Given the description of an element on the screen output the (x, y) to click on. 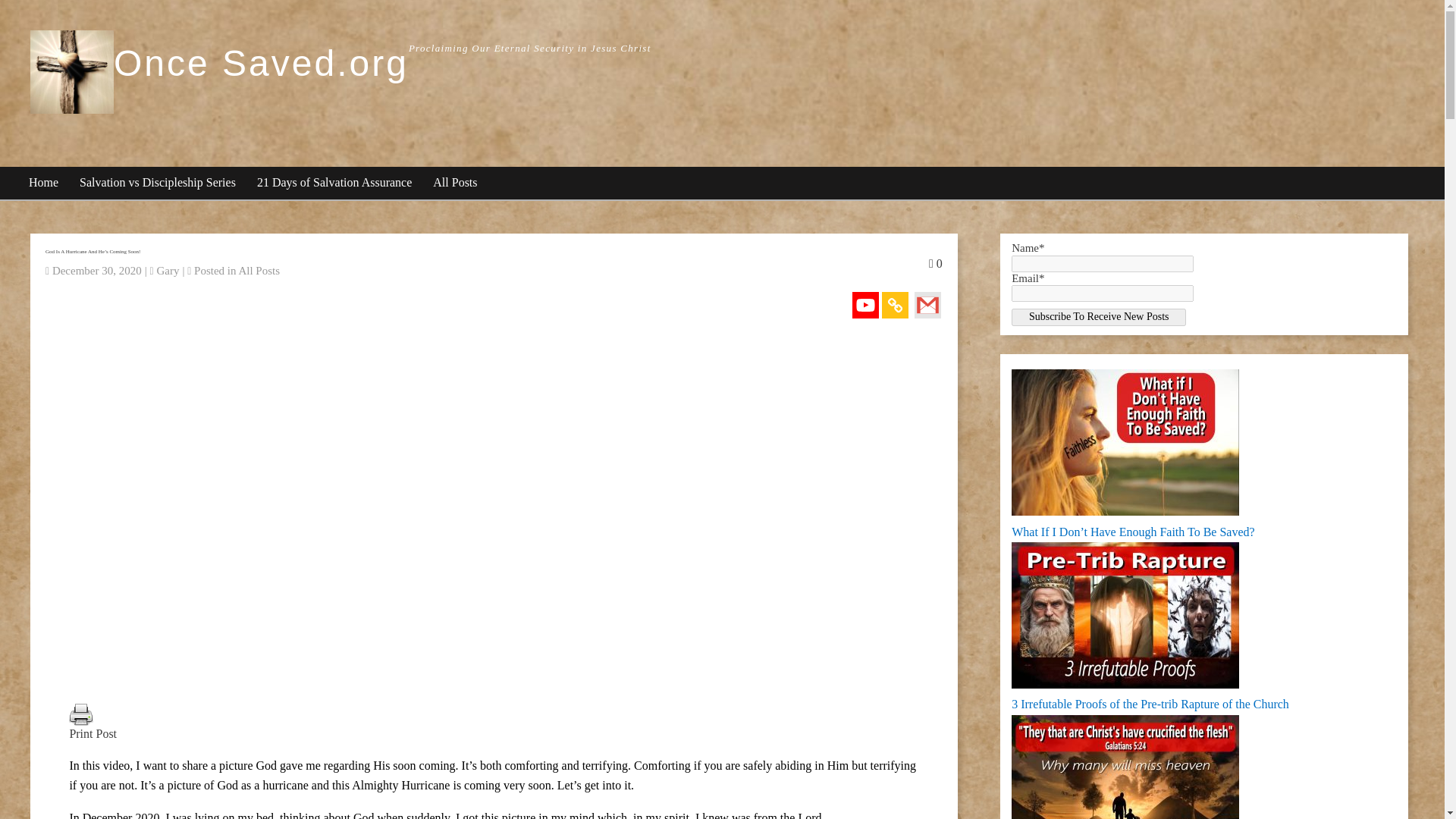
All Posts (455, 183)
Youtube (865, 304)
Print Post (493, 734)
Subscribe To Receive New Posts (1098, 316)
All Posts (258, 270)
Salvation vs Discipleship Series (158, 183)
Google Gmail (927, 304)
Home (43, 183)
Print Post (80, 714)
Gary (167, 270)
